Given the description of an element on the screen output the (x, y) to click on. 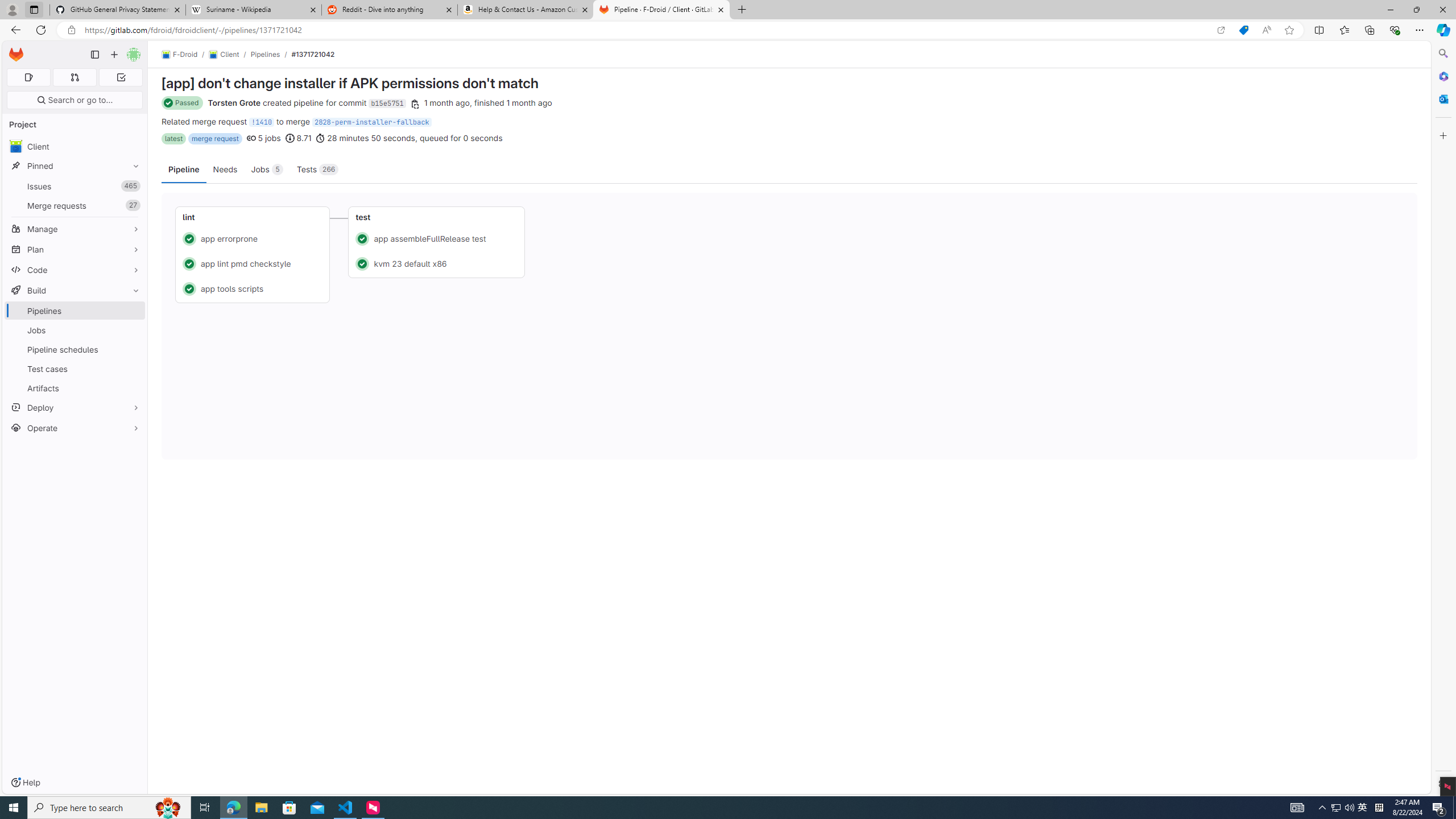
Issues 465 (74, 185)
Shopping in Microsoft Edge (1243, 29)
Deploy (74, 407)
Plan (74, 248)
Assigned issues 0 (28, 76)
Unpin Merge requests (132, 205)
Manage (74, 228)
